Given the description of an element on the screen output the (x, y) to click on. 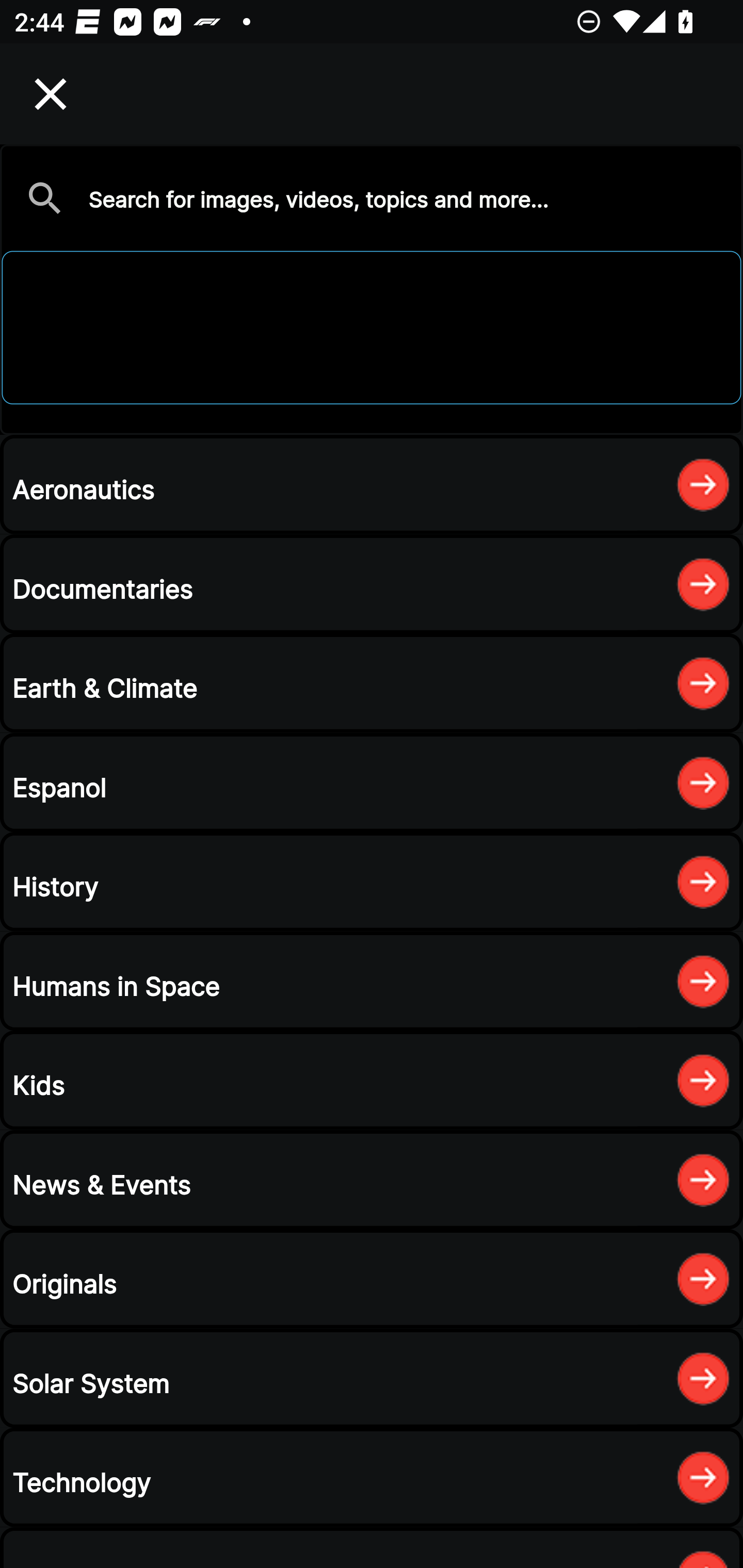
Hubble Telescope (371, 289)
Aeronautics (371, 484)
Documentaries (371, 583)
Earth & Climate (371, 682)
Espanol (371, 782)
History (371, 881)
Humans in Space (371, 980)
Kids (371, 1080)
News & Events (371, 1179)
Originals (371, 1278)
Solar System (371, 1378)
Technology (371, 1477)
